Given the description of an element on the screen output the (x, y) to click on. 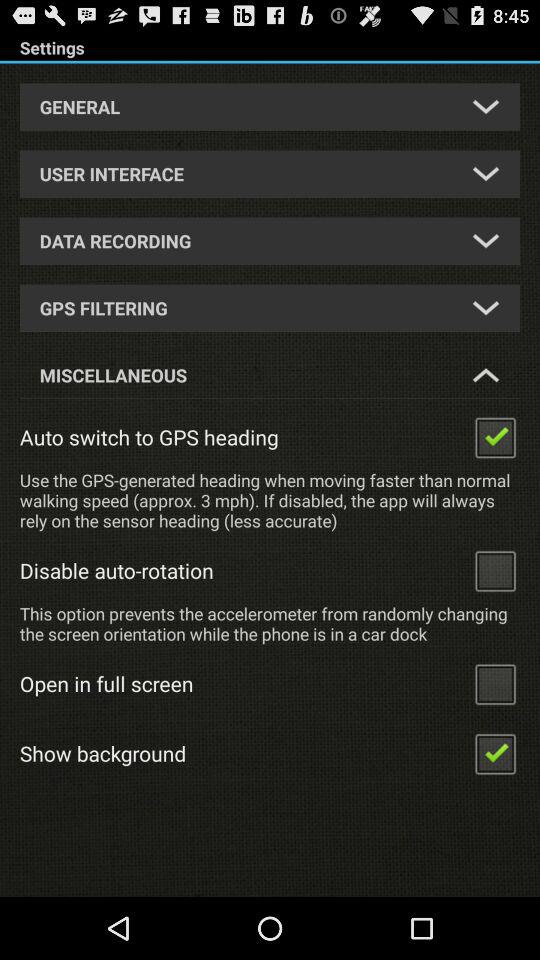
toggle open in full screen (495, 683)
